Given the description of an element on the screen output the (x, y) to click on. 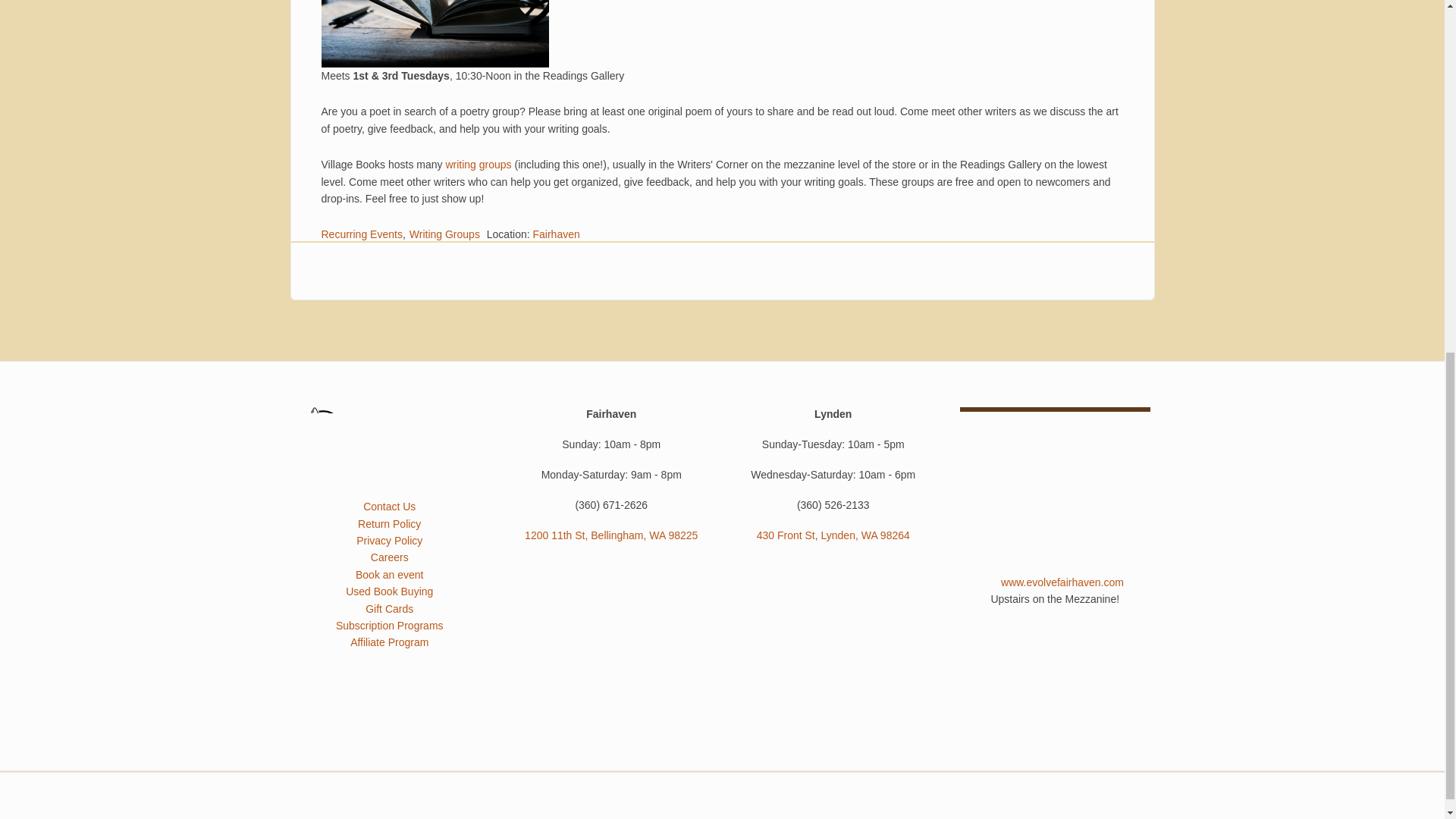
430 Front St, Lynden, WA 98264 (833, 535)
Gift Cards (389, 608)
Book an event (389, 574)
Recurring Events (362, 234)
Fairhaven (555, 234)
Subscription Programs (390, 625)
Return Policy (389, 523)
Careers (390, 557)
Affiliate Program (389, 642)
Privacy Policy (389, 540)
Writing Groups (444, 234)
1200 11th St, Bellingham, WA 98225 (610, 535)
Used Book Buying (389, 591)
www.evolvefairhaven.com (1062, 582)
Contact Us (388, 506)
